Given the description of an element on the screen output the (x, y) to click on. 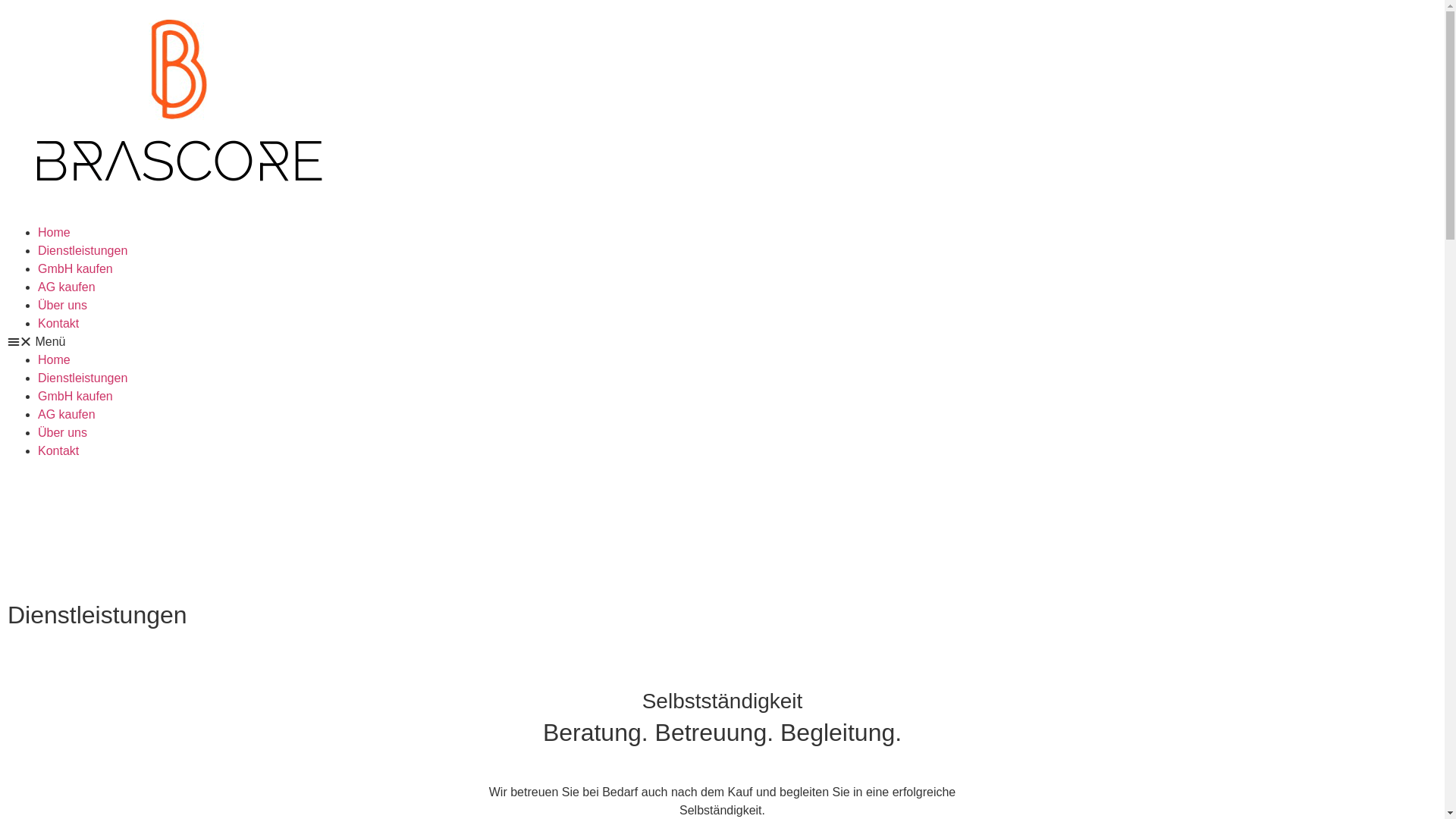
Home Element type: text (53, 231)
Kontakt Element type: text (57, 322)
Home Element type: text (53, 359)
AG kaufen Element type: text (66, 413)
Kontakt Element type: text (57, 450)
AG kaufen Element type: text (66, 286)
Dienstleistungen Element type: text (82, 377)
GmbH kaufen Element type: text (74, 395)
Dienstleistungen Element type: text (82, 250)
GmbH kaufen Element type: text (74, 268)
